Given the description of an element on the screen output the (x, y) to click on. 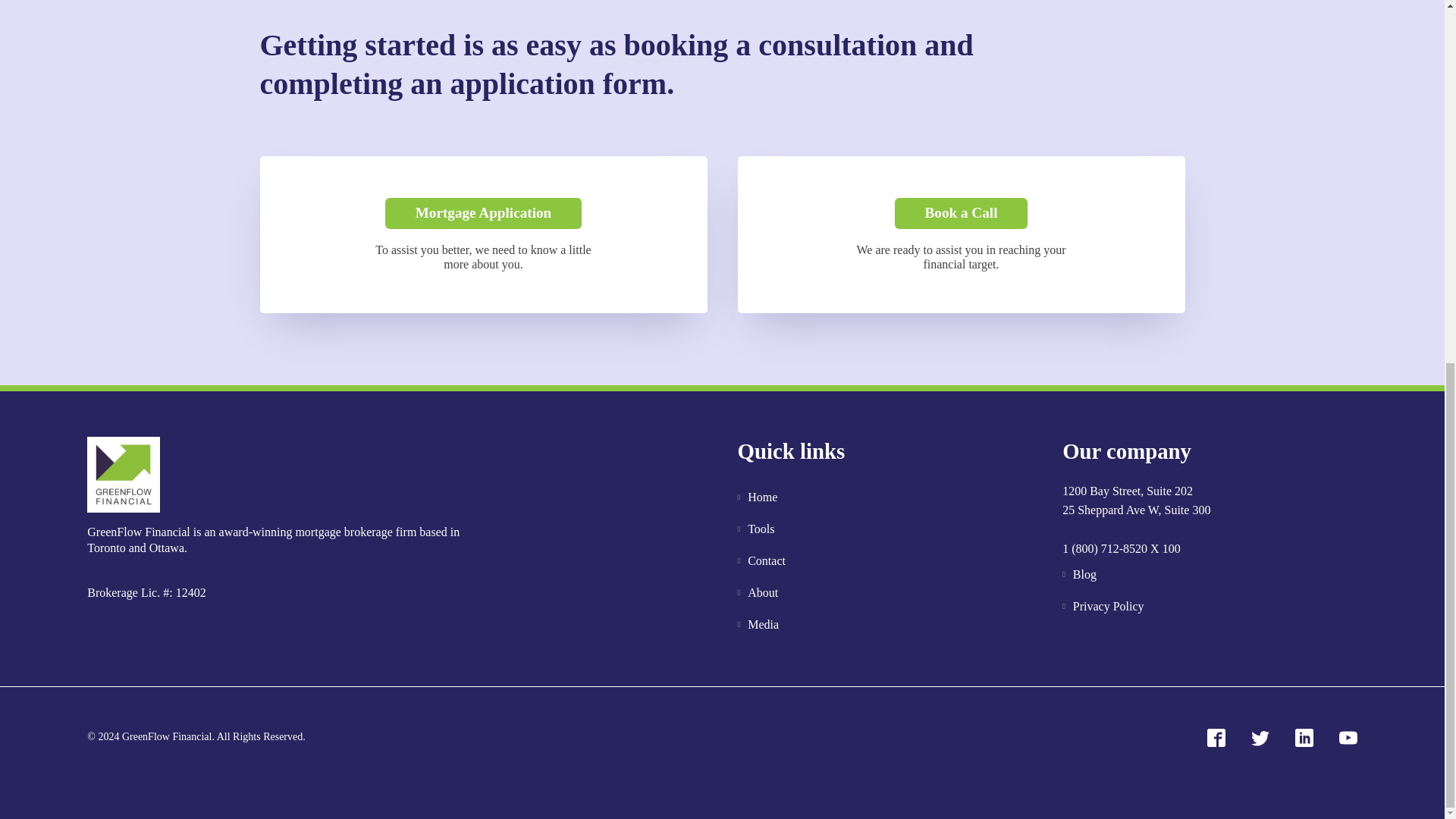
Contact (760, 561)
Privacy Policy (1102, 606)
About (760, 593)
Home (760, 497)
Media (760, 624)
Book a Call (961, 213)
25 Sheppard Ave W, Suite 300 (1135, 519)
Mortgage Application (483, 213)
Blog (1102, 574)
Tools (760, 529)
